Given the description of an element on the screen output the (x, y) to click on. 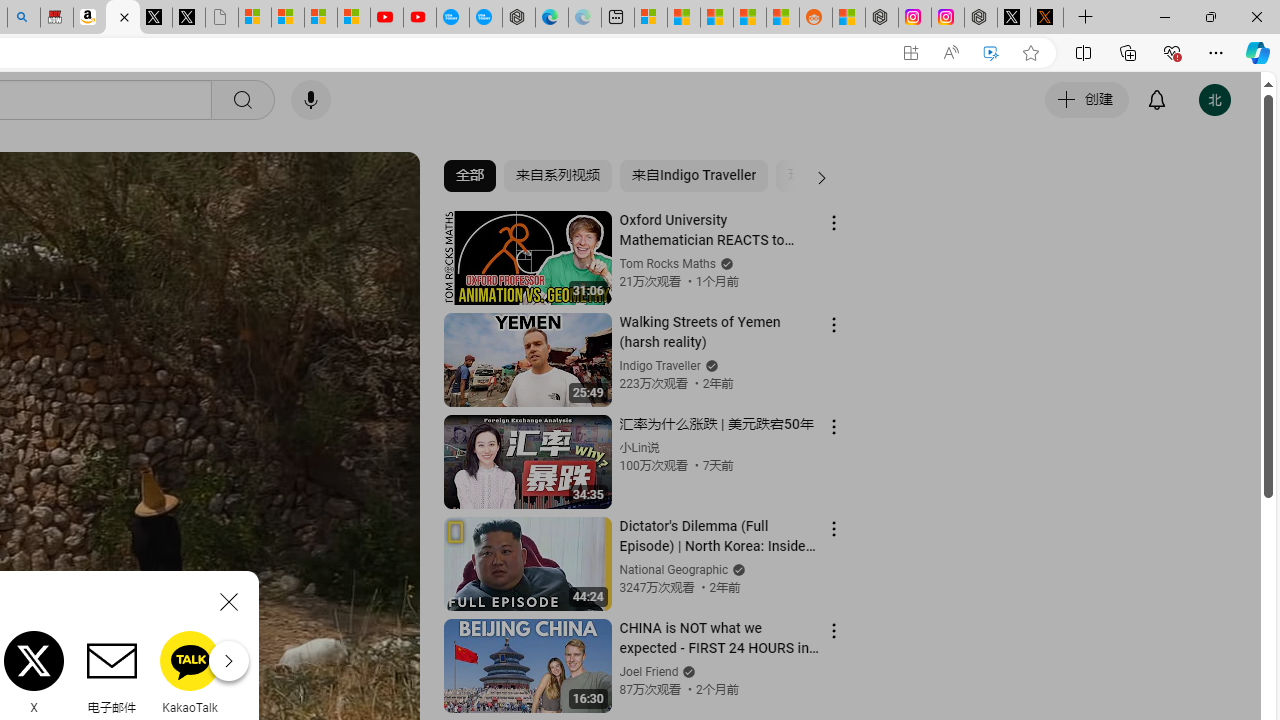
Reddit (267, 672)
